Given the description of an element on the screen output the (x, y) to click on. 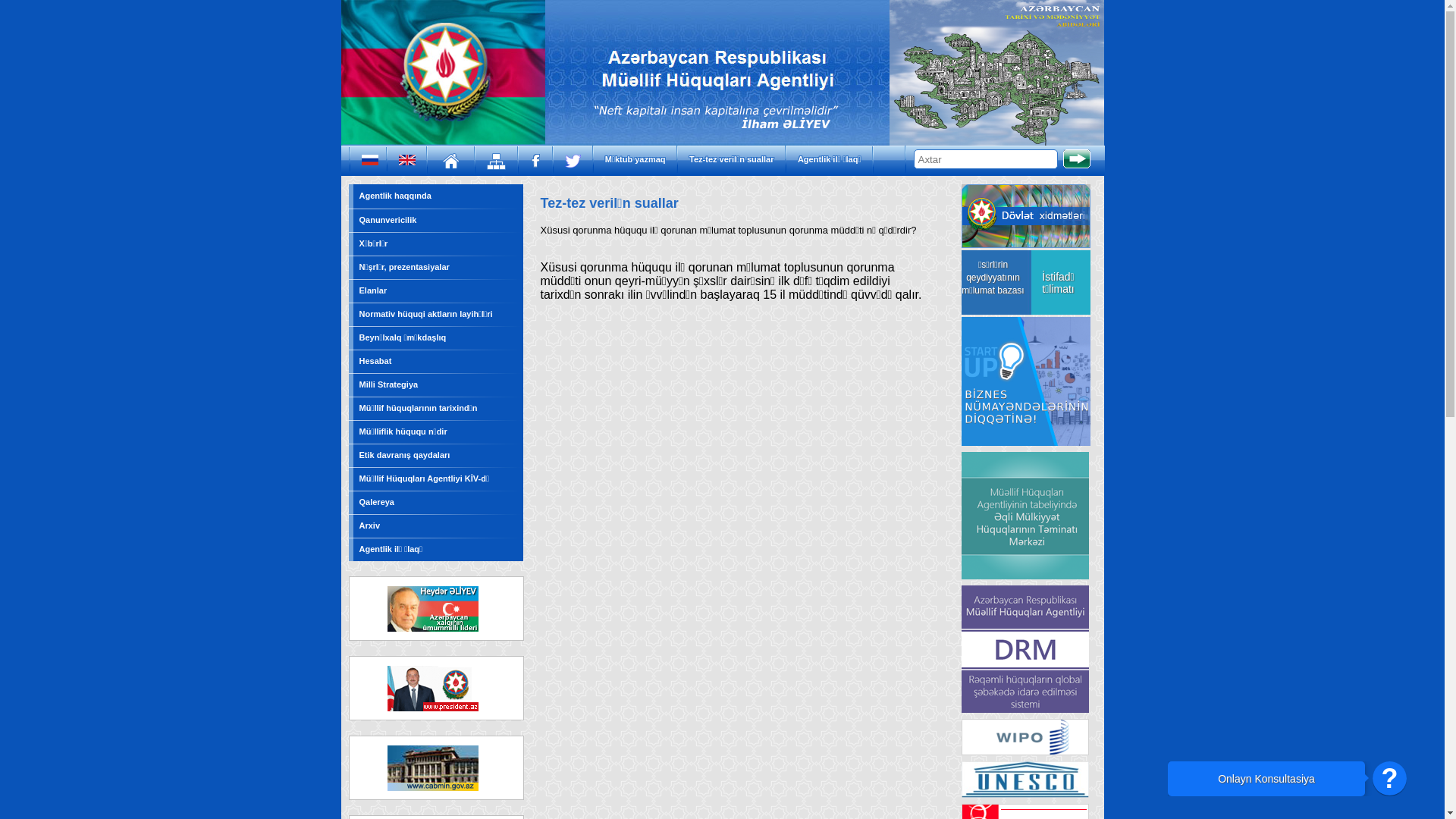
Elanlar Element type: text (373, 289)
Milli Strategiya Element type: text (388, 384)
Qalereya Element type: text (376, 501)
Arxiv Element type: text (369, 525)
Hesabat Element type: text (375, 360)
Qanunvericilik Element type: text (388, 219)
